Given the description of an element on the screen output the (x, y) to click on. 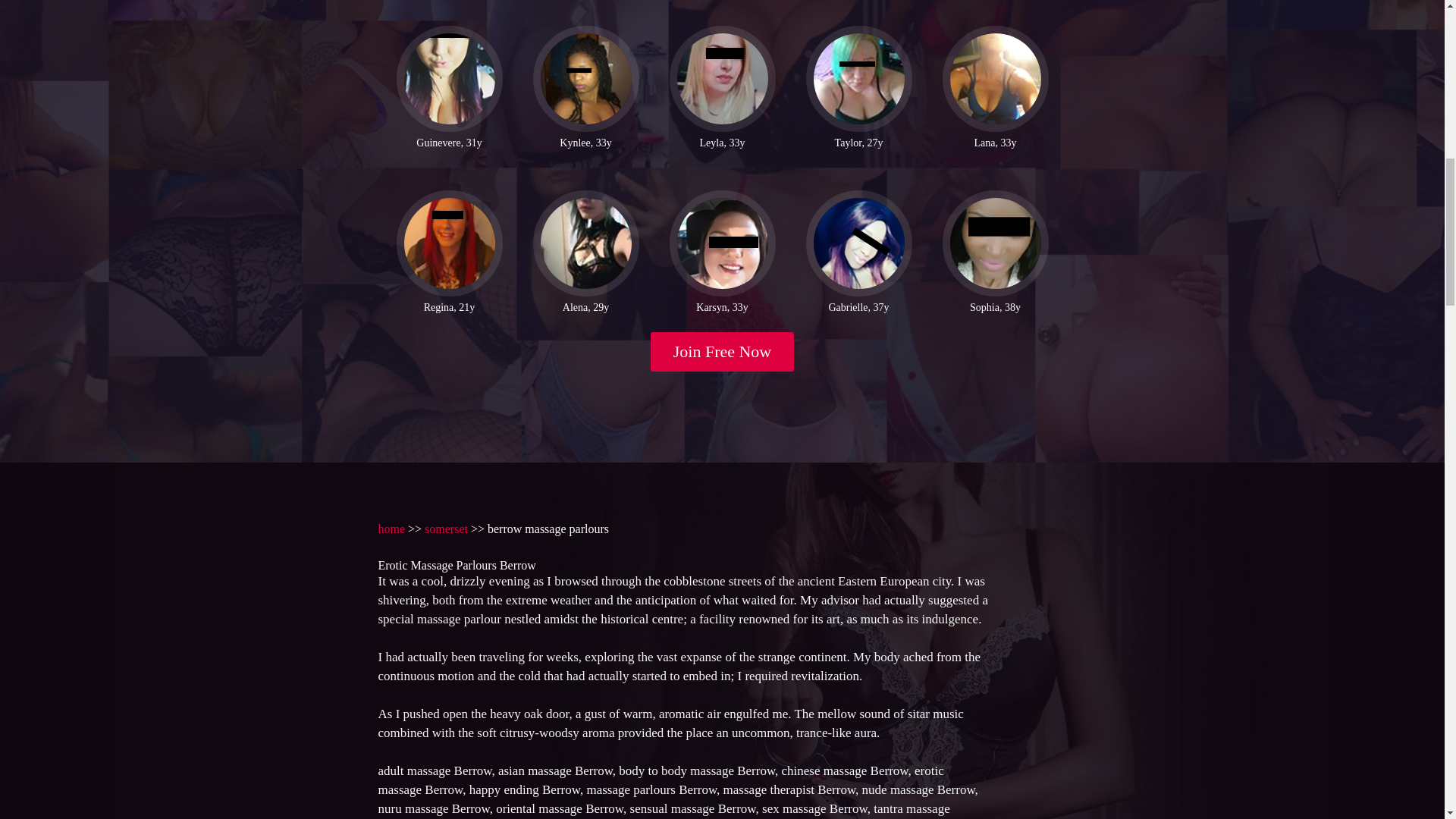
Join Free Now (722, 351)
somerset (446, 528)
home (390, 528)
Join (722, 351)
